Given the description of an element on the screen output the (x, y) to click on. 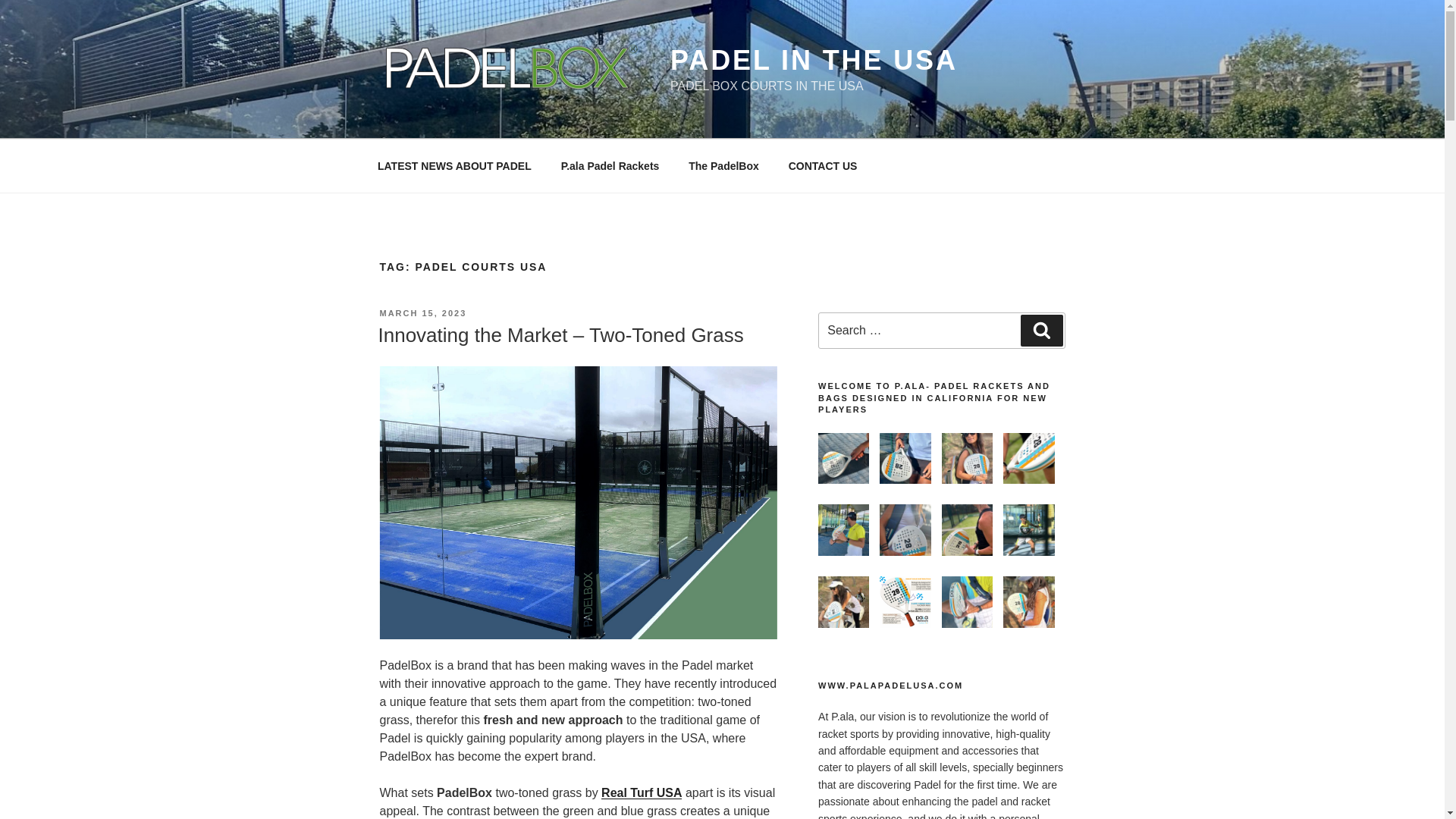
Real Turf USA (641, 792)
LATEST NEWS ABOUT PADEL (454, 165)
Visit our on-line Padel Shop (609, 165)
P.ala Padel Rackets (609, 165)
The PadelBox (724, 165)
MARCH 15, 2023 (421, 312)
Search (1041, 330)
CONTACT US (822, 165)
Real Turf USA (641, 792)
PADEL IN THE USA (813, 60)
